Given the description of an element on the screen output the (x, y) to click on. 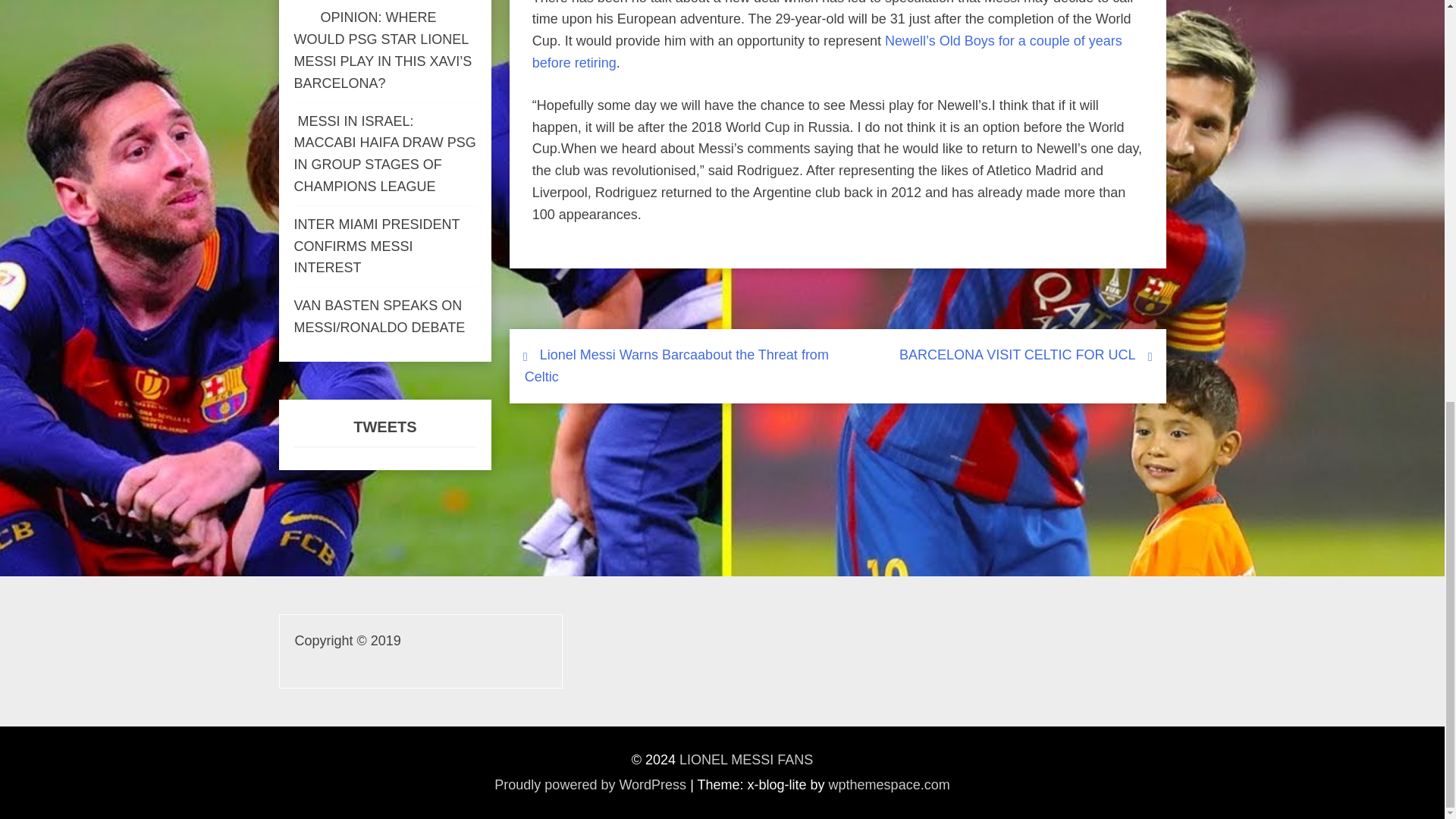
Proudly powered by WordPress (590, 784)
Lionel Messi Warns Barcaabout the Threat from Celtic (676, 365)
BARCELONA VISIT CELTIC FOR UCL (1017, 354)
wpthemespace.com (889, 784)
LIONEL MESSI FANS (745, 760)
INTER MIAMI PRESIDENT CONFIRMS MESSI INTEREST (377, 246)
